Given the description of an element on the screen output the (x, y) to click on. 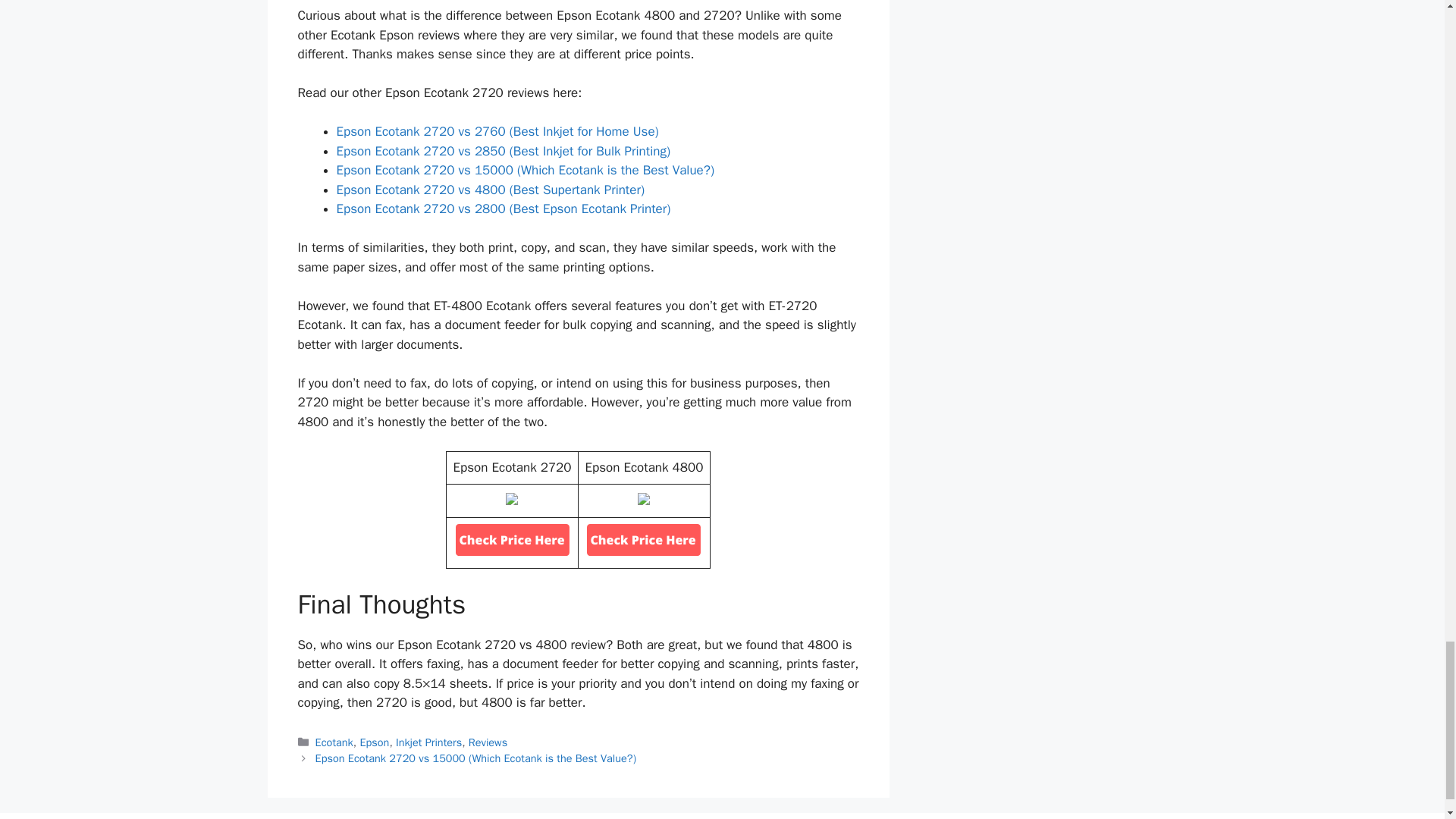
Reviews (487, 742)
Inkjet Printers (428, 742)
Epson (373, 742)
Ecotank (334, 742)
